Given the description of an element on the screen output the (x, y) to click on. 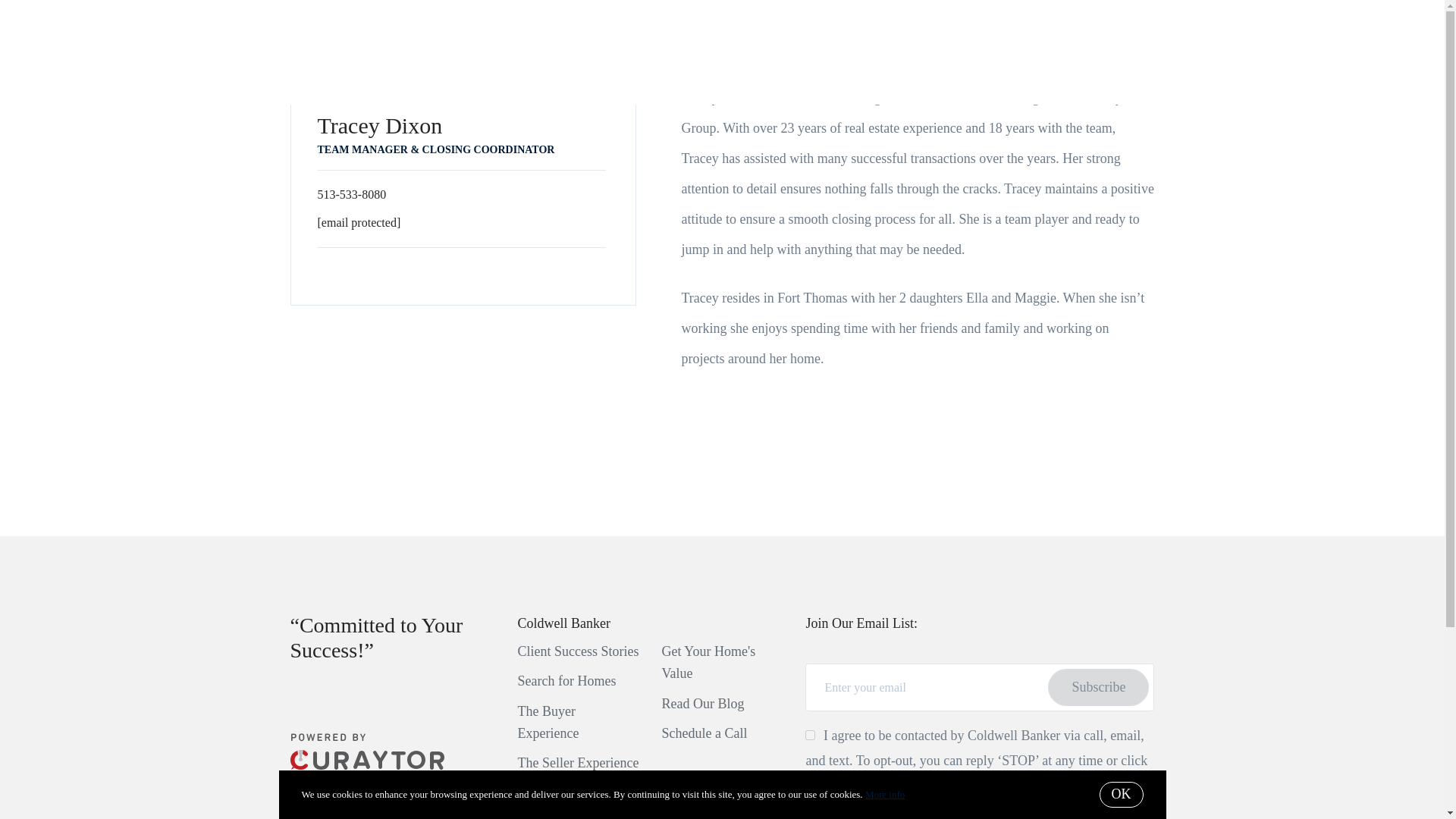
curaytor-horizontal (366, 750)
Search for Homes (565, 680)
OK (1120, 794)
513-533-8080 (351, 194)
Read Our Blog (702, 703)
curaytor-horizontal (366, 764)
Get Your Home's Value (708, 661)
More info (884, 794)
The Seller Experience (577, 762)
The Buyer Experience (547, 722)
on (810, 735)
Client Success Stories (577, 651)
